Given the description of an element on the screen output the (x, y) to click on. 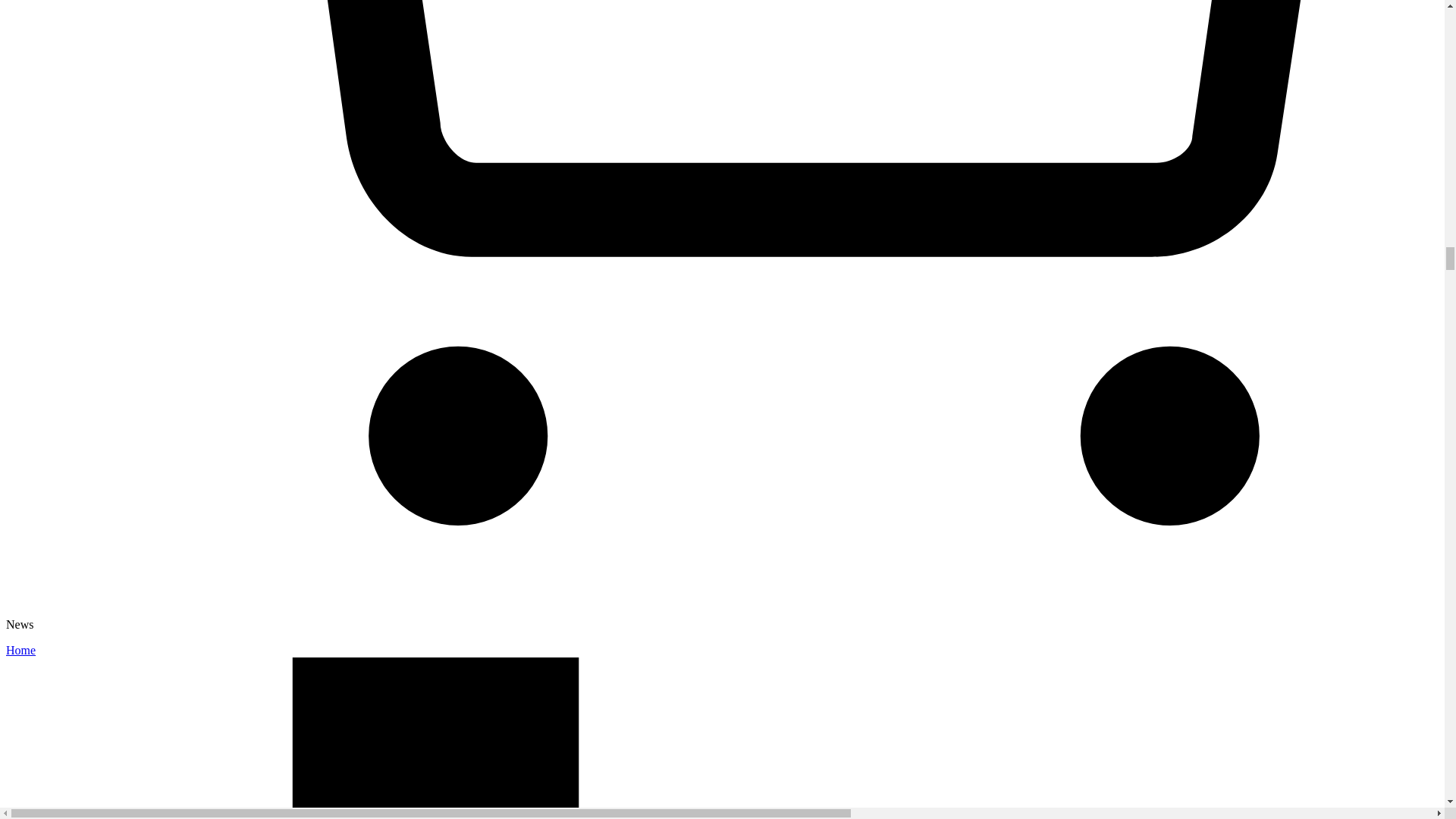
Home (19, 649)
